Given the description of an element on the screen output the (x, y) to click on. 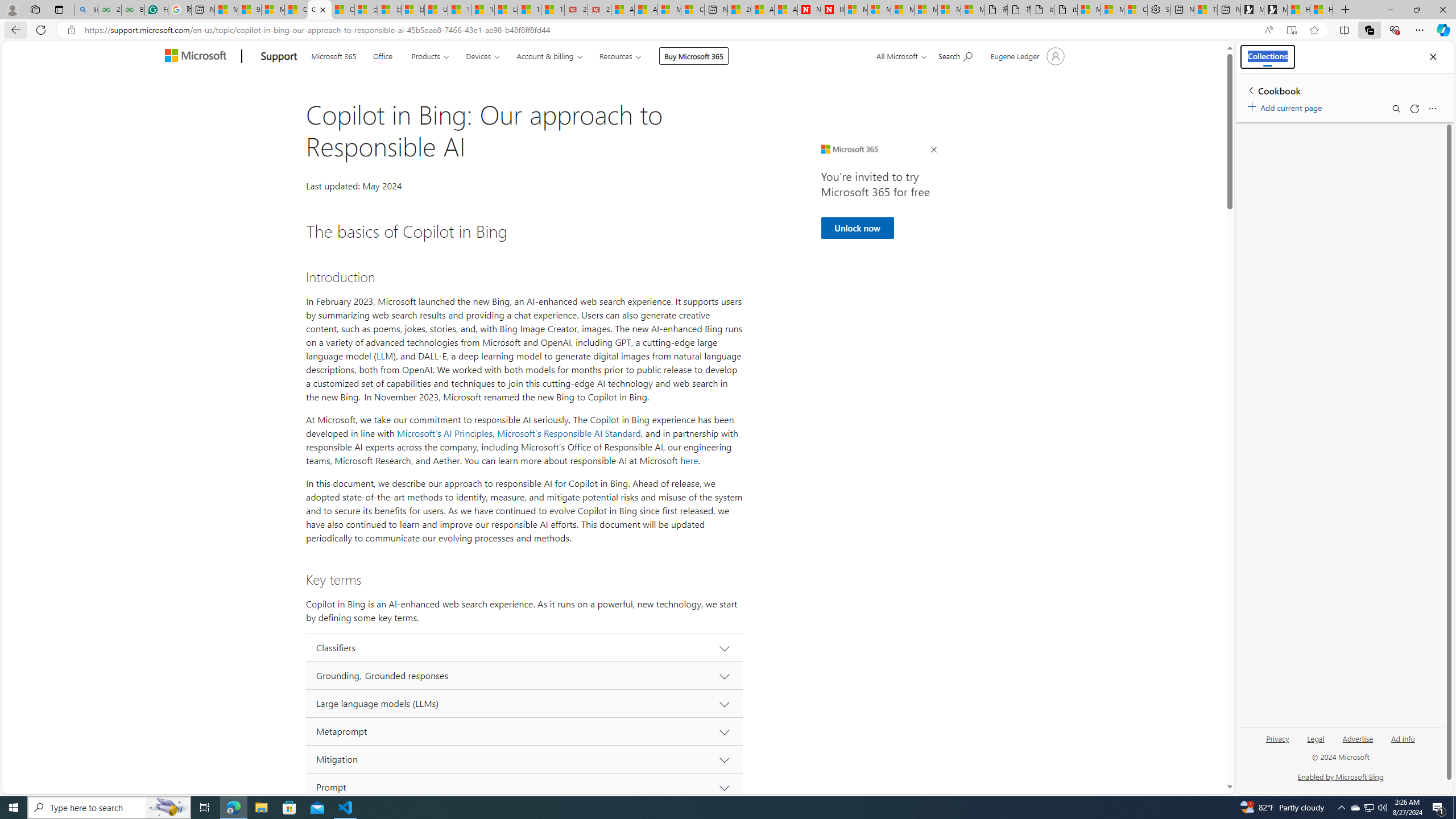
Buy Microsoft 365 (693, 55)
itconcepthk.com/projector_solutions.mp4 (1065, 9)
Add current page (1286, 105)
